Given the description of an element on the screen output the (x, y) to click on. 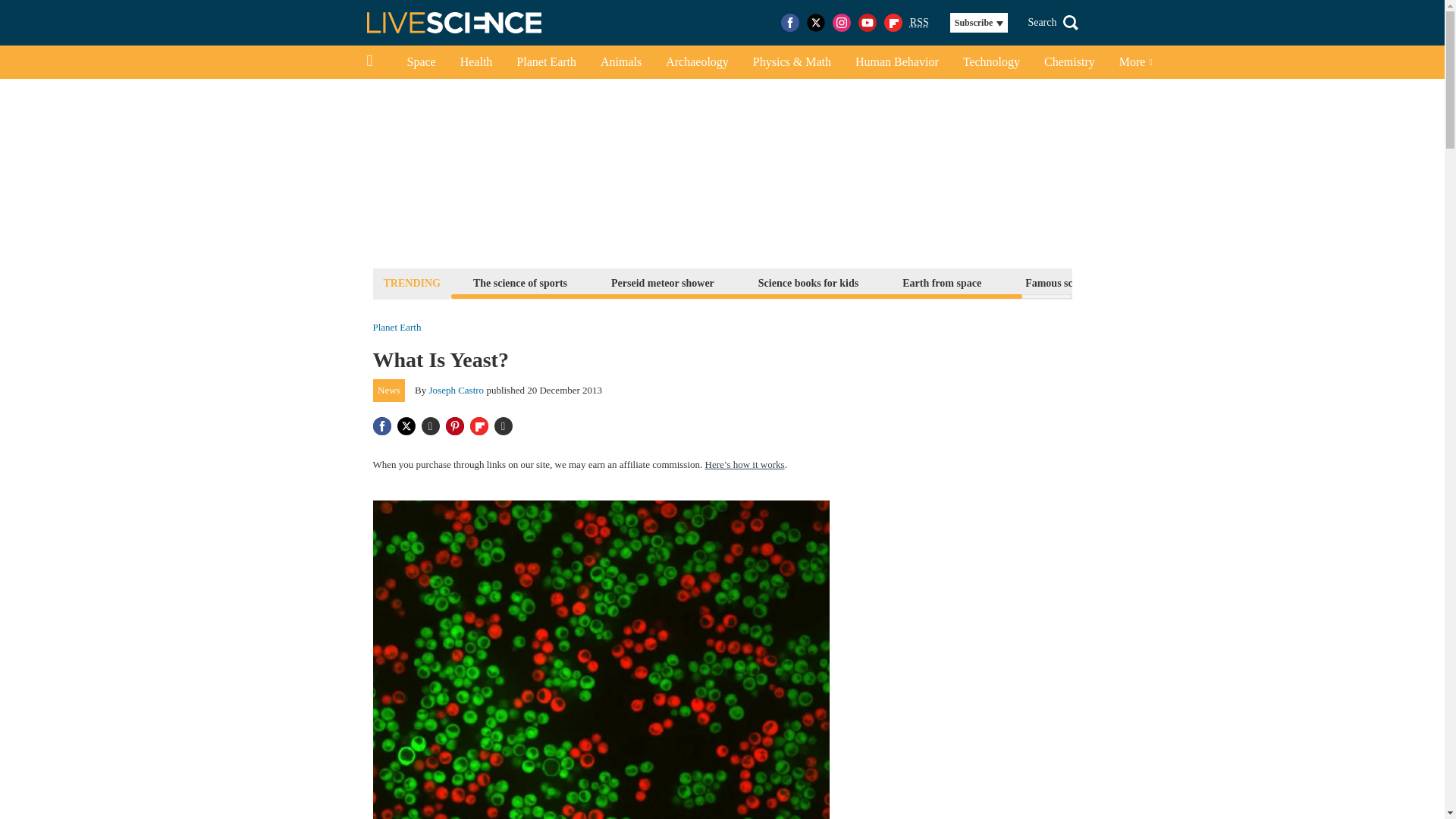
Technology (991, 61)
Science books for kids (807, 282)
Space (420, 61)
Animals (620, 61)
Health (476, 61)
Perseid meteor shower (662, 282)
Really Simple Syndication (919, 21)
RSS (919, 22)
Earth from space (941, 282)
Chemistry (1069, 61)
